Given the description of an element on the screen output the (x, y) to click on. 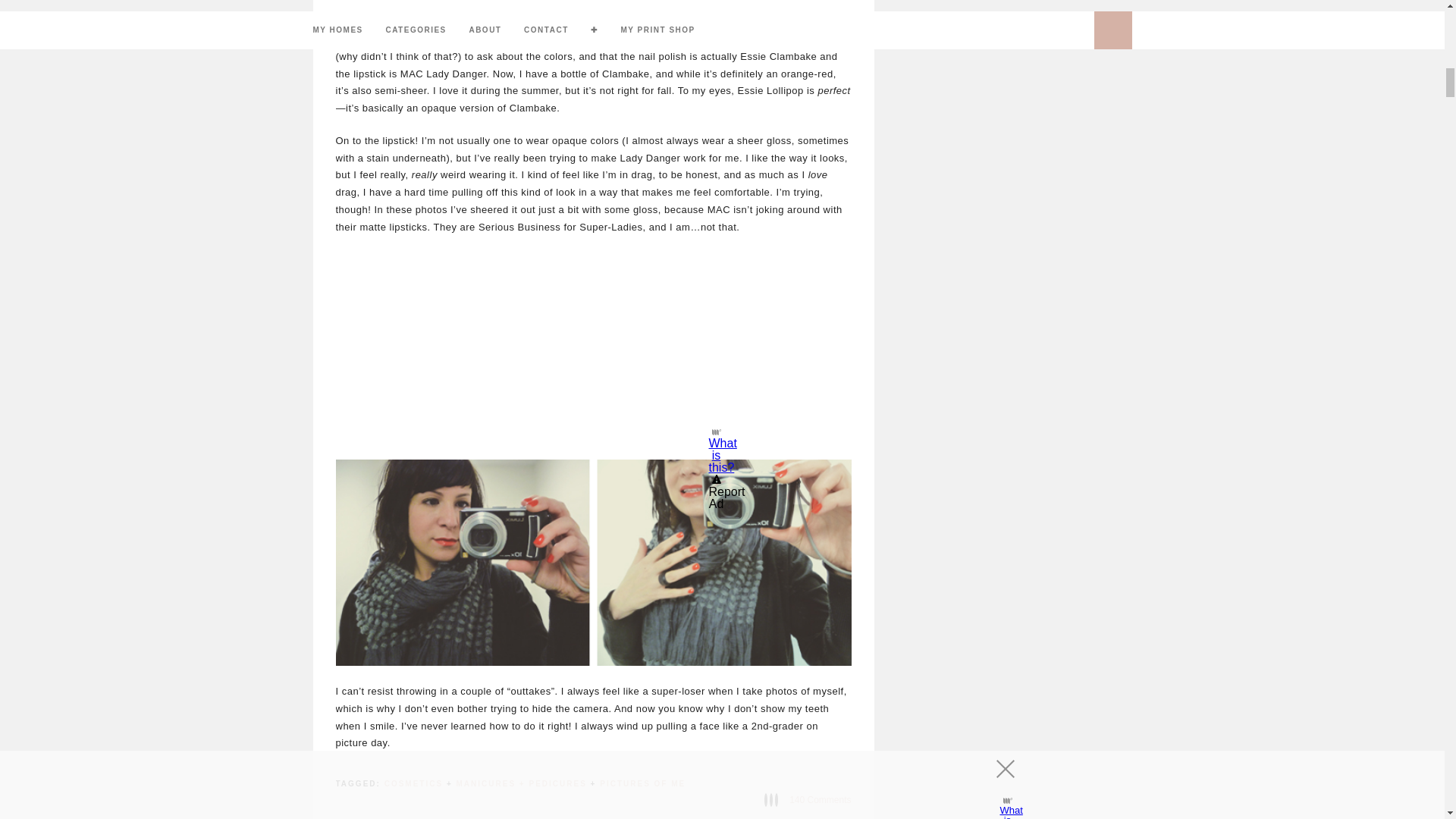
3rd party ad content (592, 345)
nerd (592, 562)
